Given the description of an element on the screen output the (x, y) to click on. 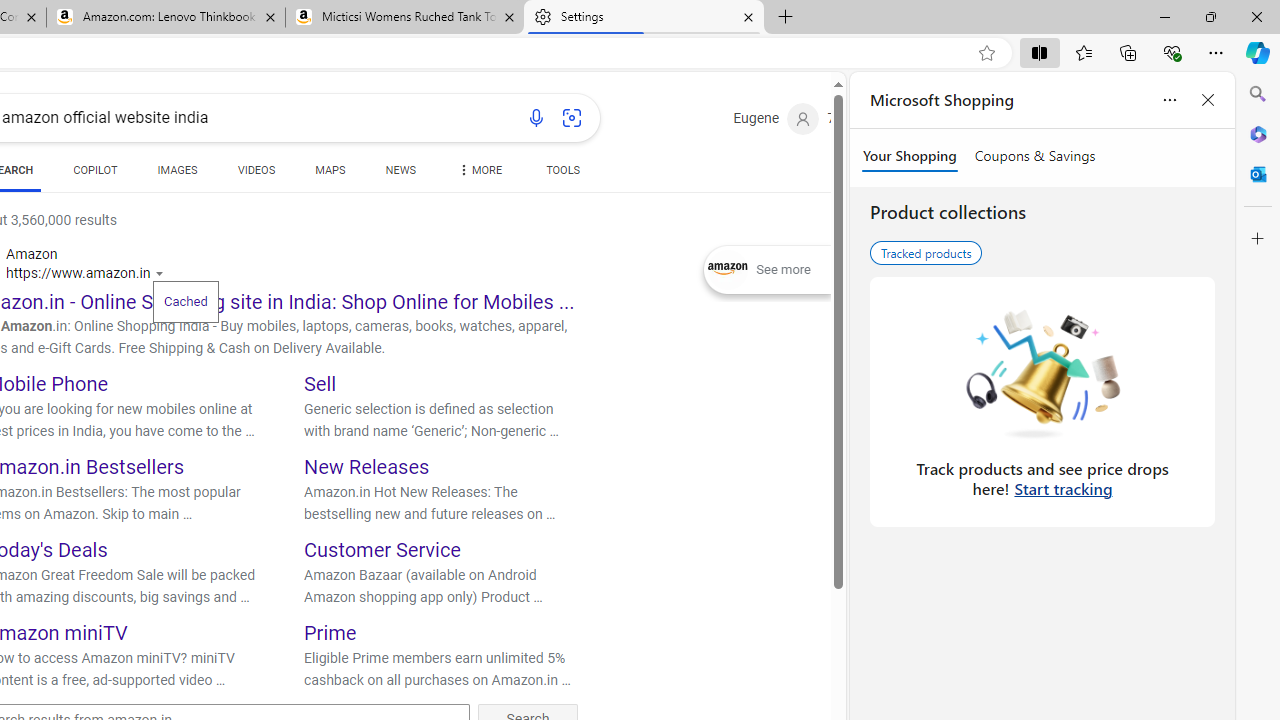
MAPS (330, 173)
Search using an image (572, 117)
Microsoft Rewards 72 (856, 119)
MAPS (330, 170)
Cached (185, 300)
Expand See more (767, 269)
COPILOT (95, 173)
COPILOT (95, 170)
MORE (478, 173)
